Given the description of an element on the screen output the (x, y) to click on. 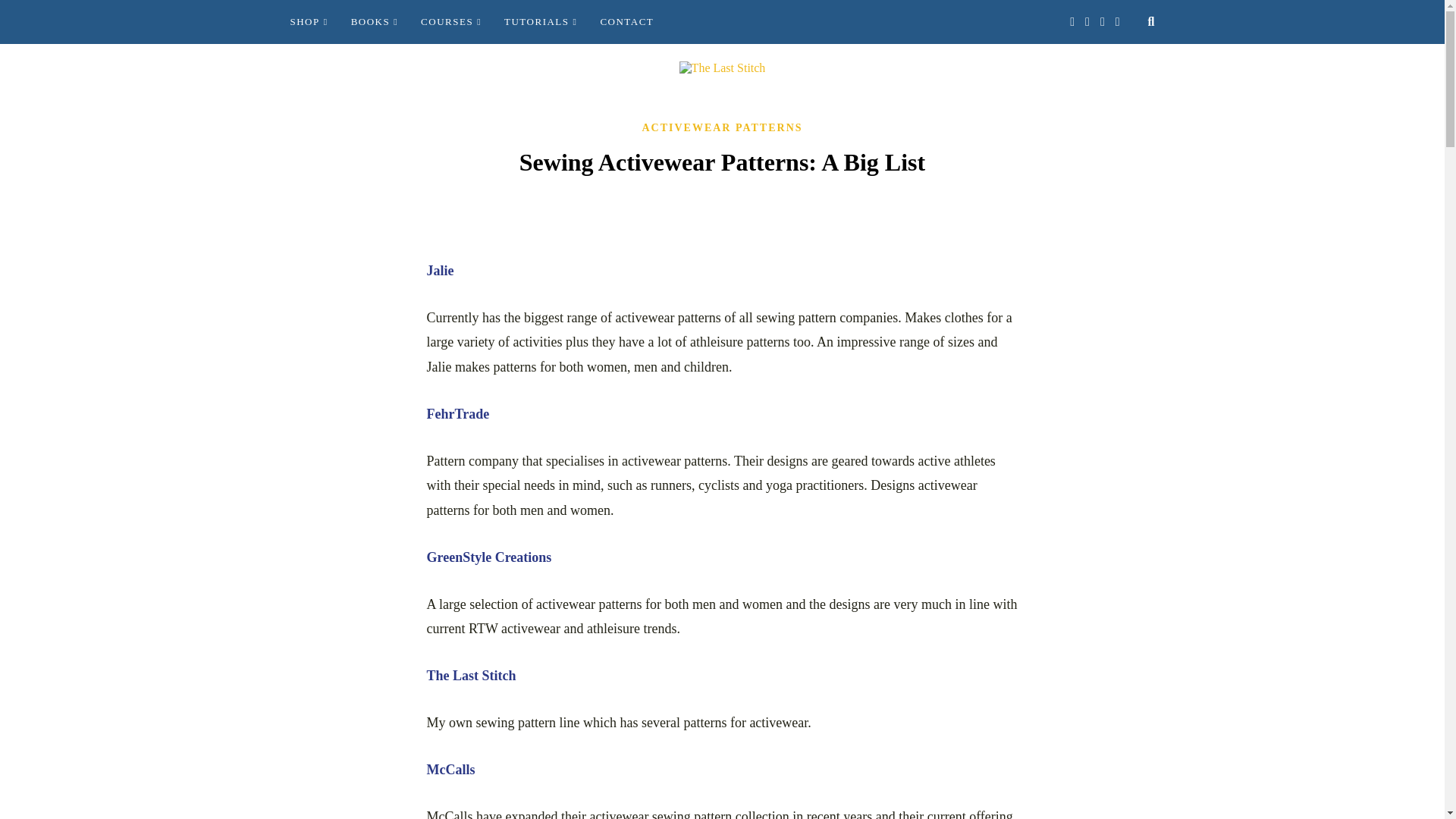
CONTACT (626, 22)
BOOKS (373, 22)
TUTORIALS (539, 22)
COURSES (450, 22)
SHOP (308, 22)
